Given the description of an element on the screen output the (x, y) to click on. 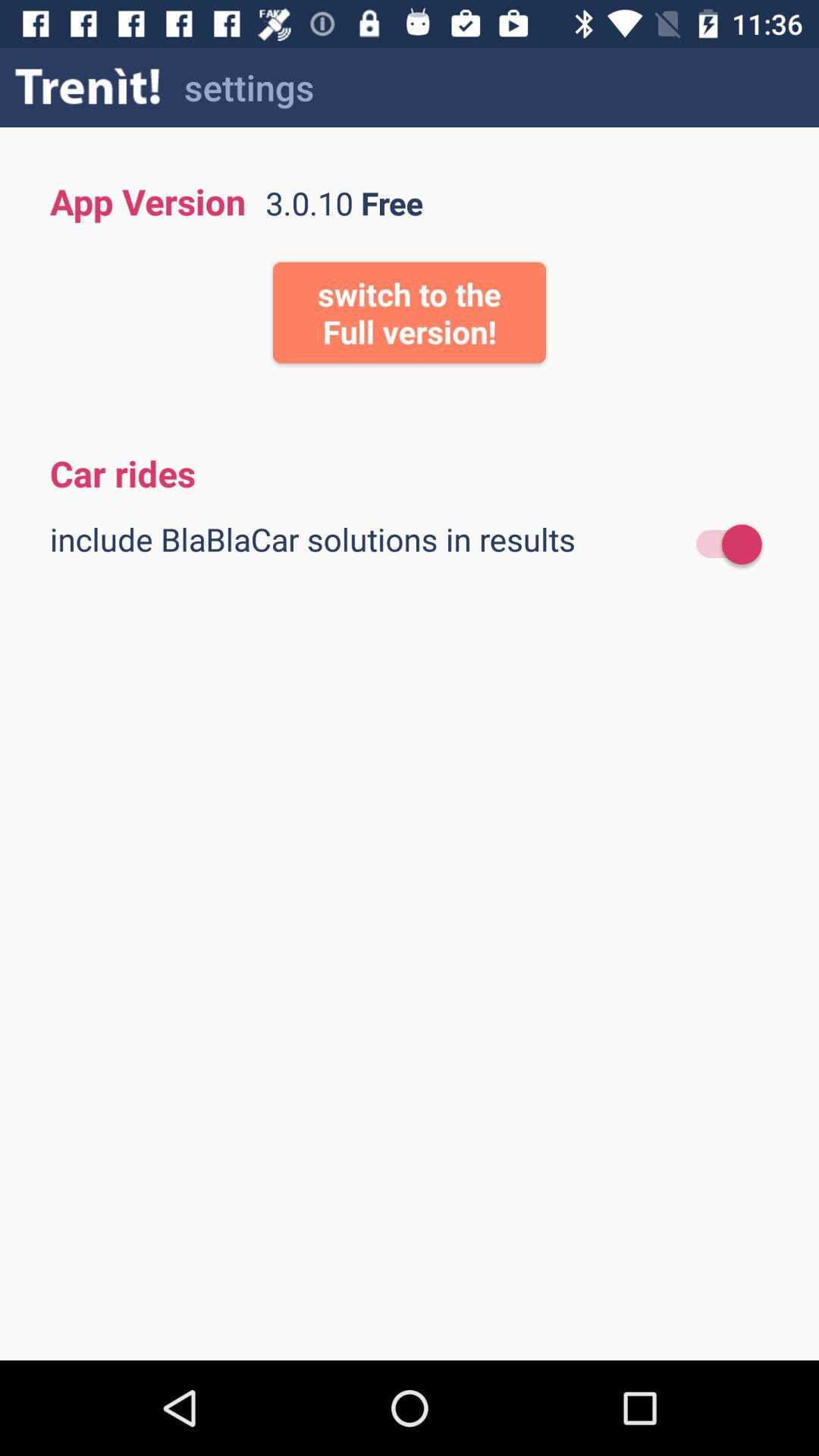
choose item above the app version (88, 87)
